Given the description of an element on the screen output the (x, y) to click on. 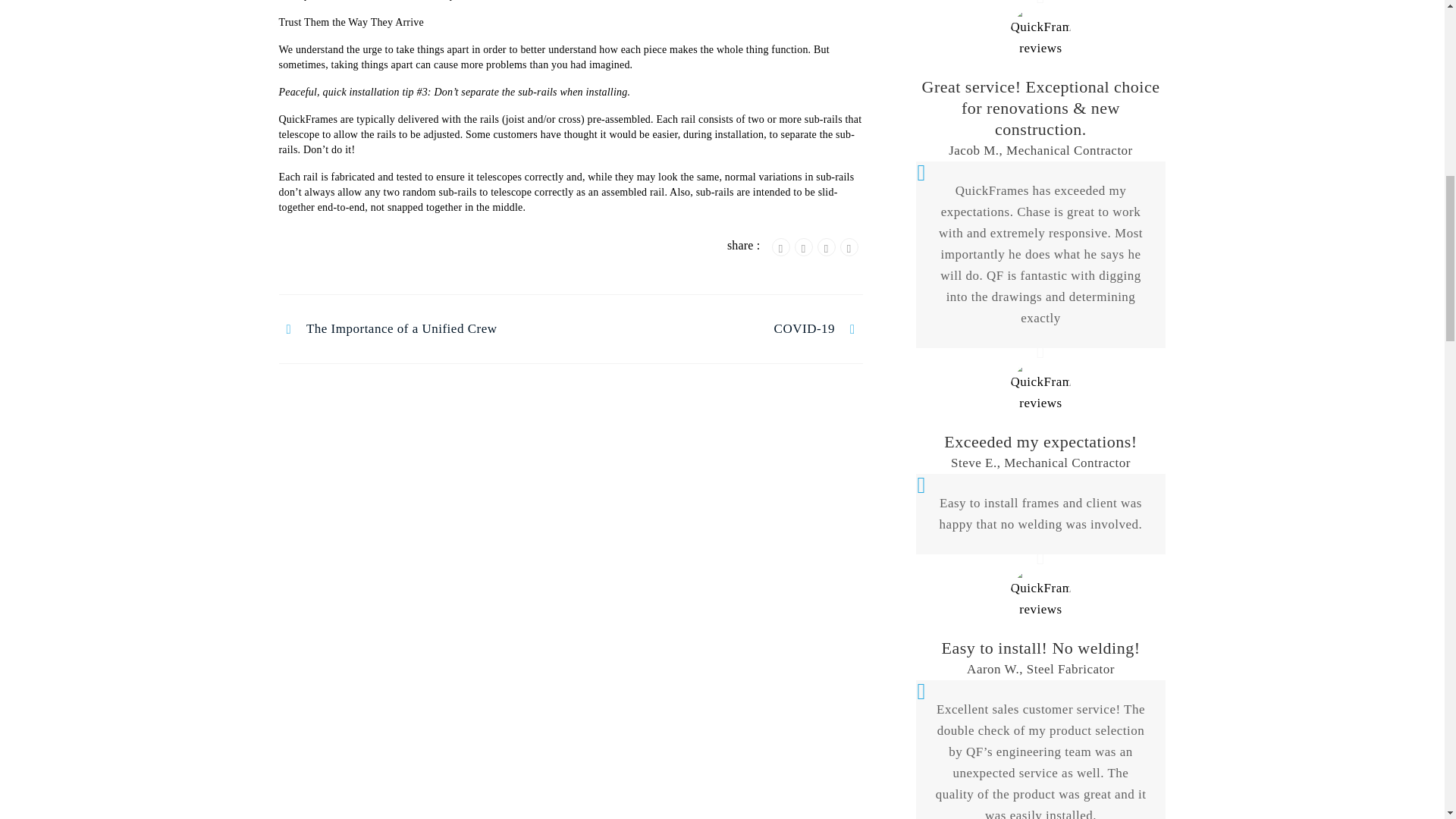
Click to send this page to Twitter! (803, 247)
